Given the description of an element on the screen output the (x, y) to click on. 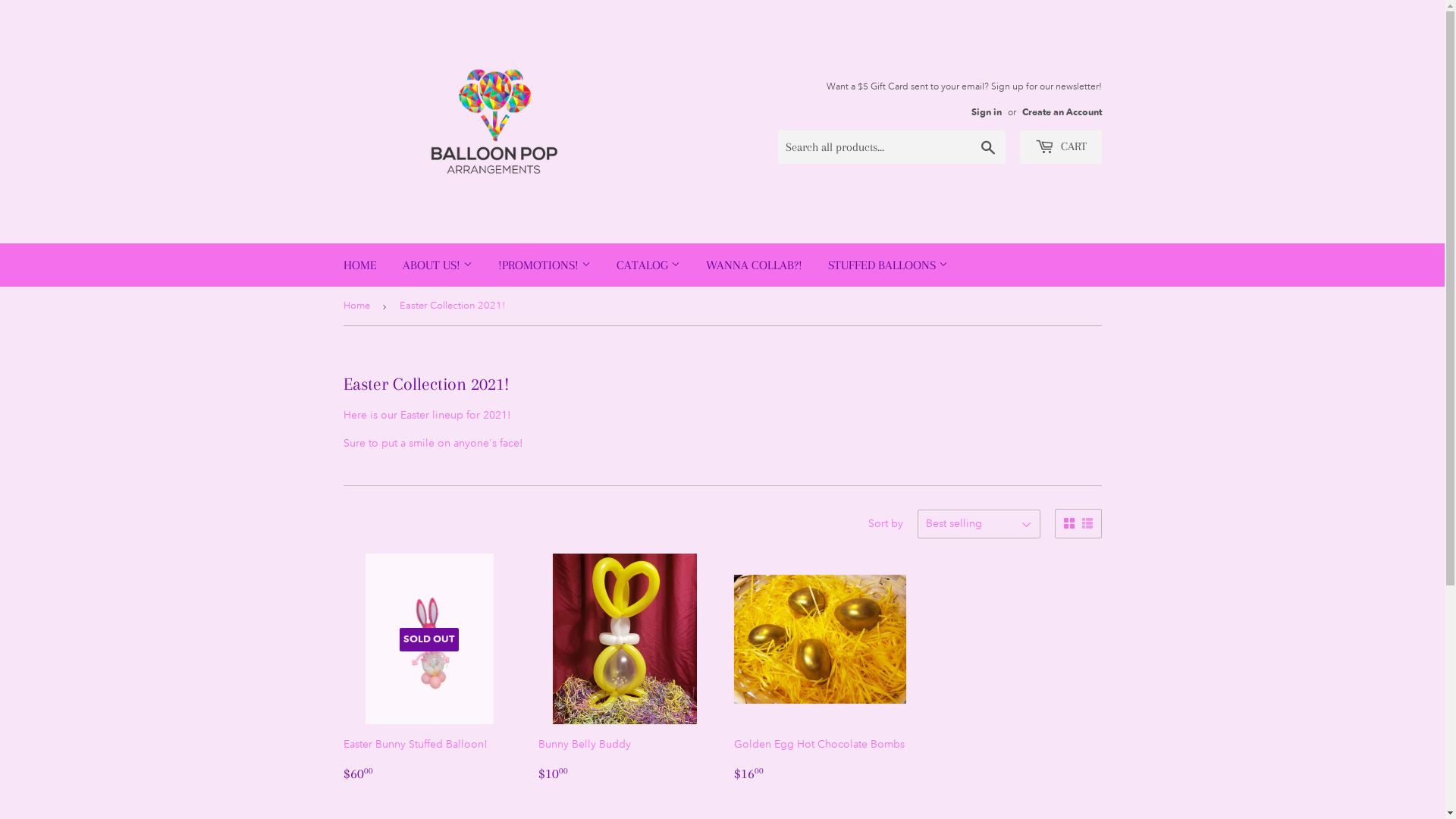
Grid view Element type: hover (1068, 523)
WANNA COLLAB?! Element type: text (753, 264)
CART Element type: text (1060, 146)
Home Element type: text (358, 305)
Sign in Element type: text (985, 111)
ABOUT US! Element type: text (437, 264)
Bunny Belly Buddy
Regular price
$1000
$10.00 Element type: text (624, 668)
List view Element type: hover (1086, 523)
Create an Account Element type: text (1061, 111)
HOME Element type: text (360, 264)
Golden Egg Hot Chocolate Bombs
Regular price
$1600
$16.00 Element type: text (820, 668)
STUFFED BALLOONS Element type: text (886, 264)
Search Element type: text (987, 147)
CATALOG Element type: text (648, 264)
!PROMOTIONS! Element type: text (544, 264)
